Given the description of an element on the screen output the (x, y) to click on. 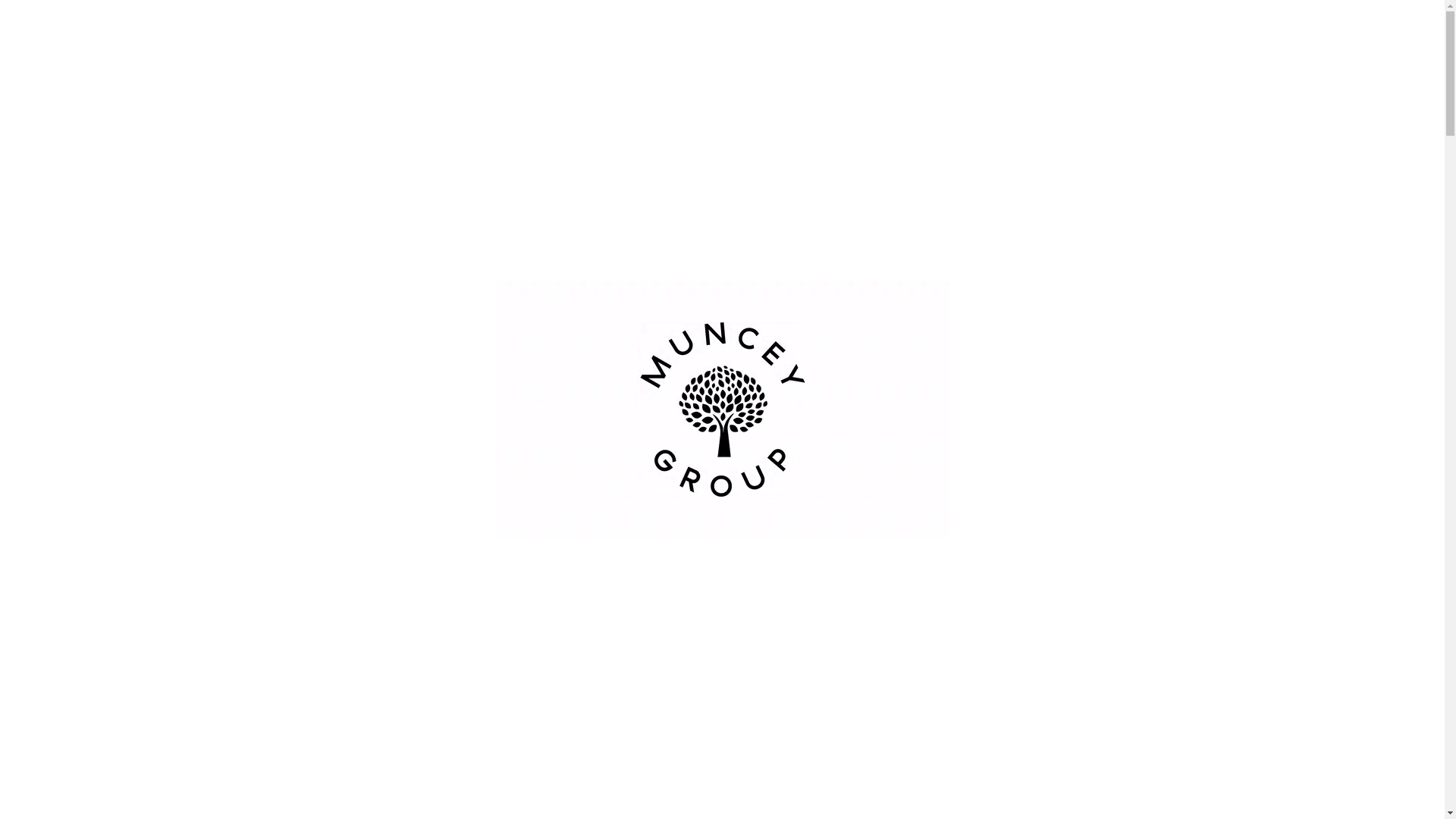
SHARE VIDEO (999, 791)
